Given the description of an element on the screen output the (x, y) to click on. 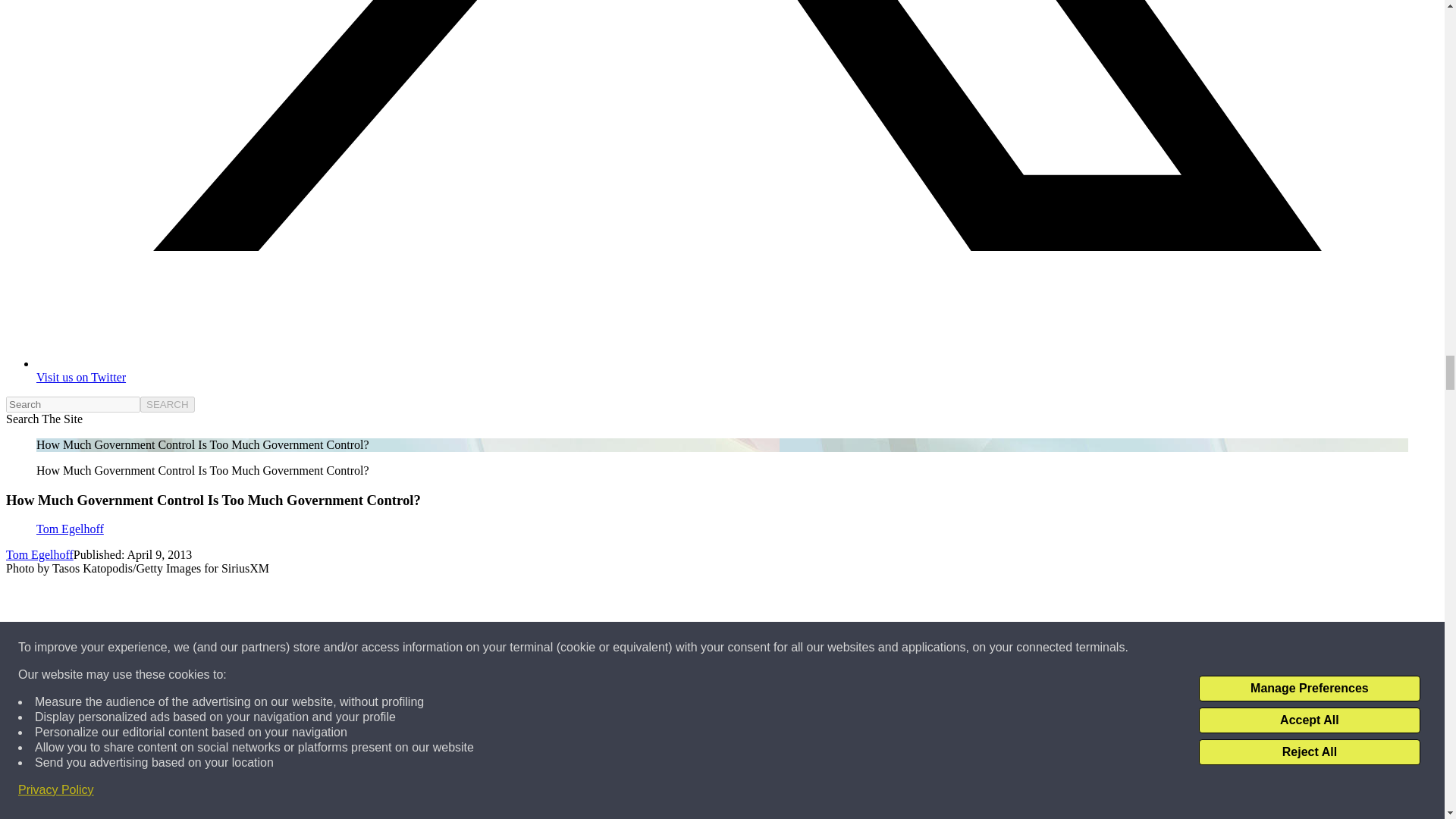
SEARCH (167, 404)
SEARCH (167, 404)
